Given the description of an element on the screen output the (x, y) to click on. 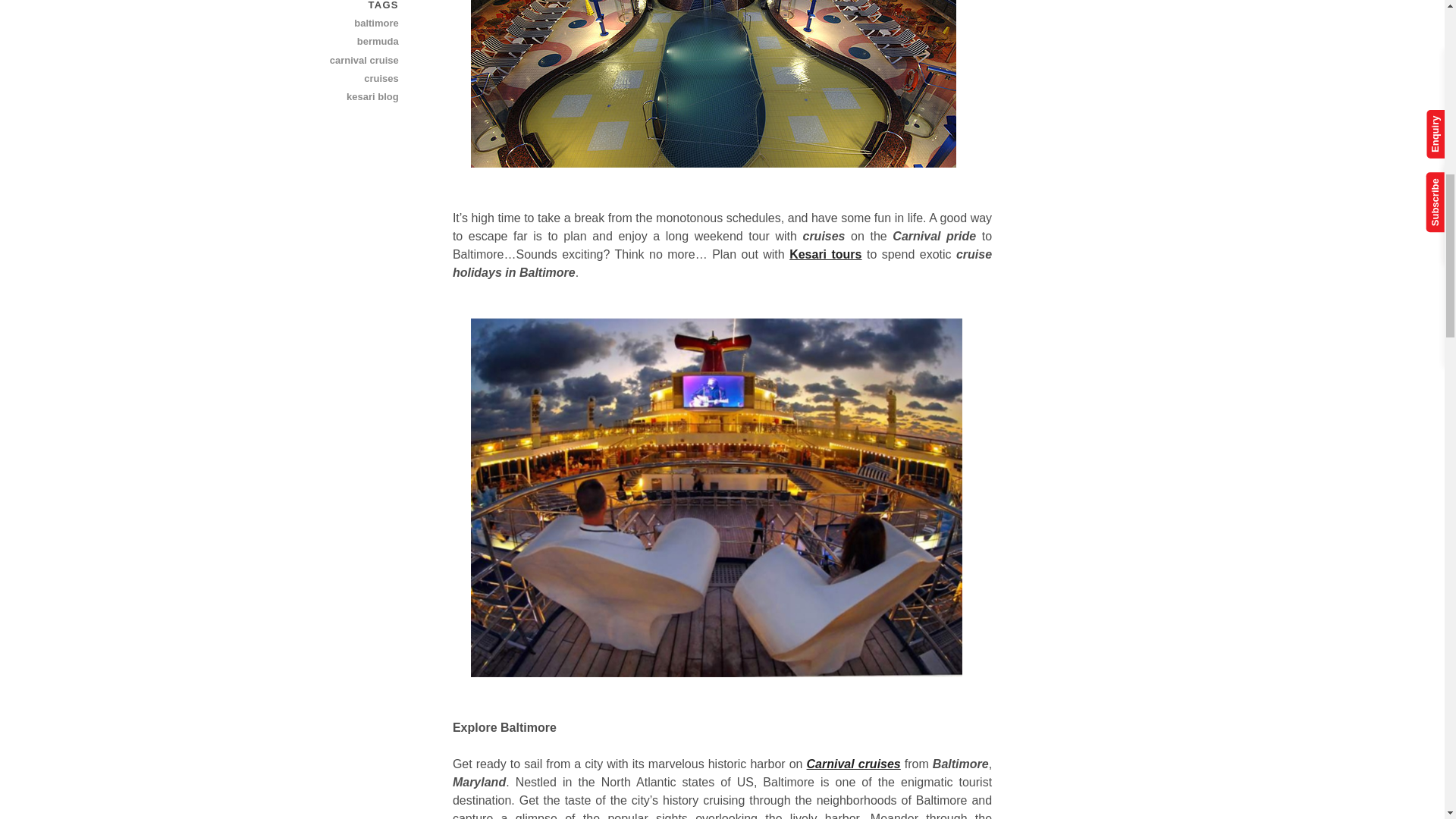
View all posts tagged baltimore (344, 23)
View all posts tagged bermuda (344, 41)
Kesari tours (825, 254)
Carnival cruises (853, 763)
